Given the description of an element on the screen output the (x, y) to click on. 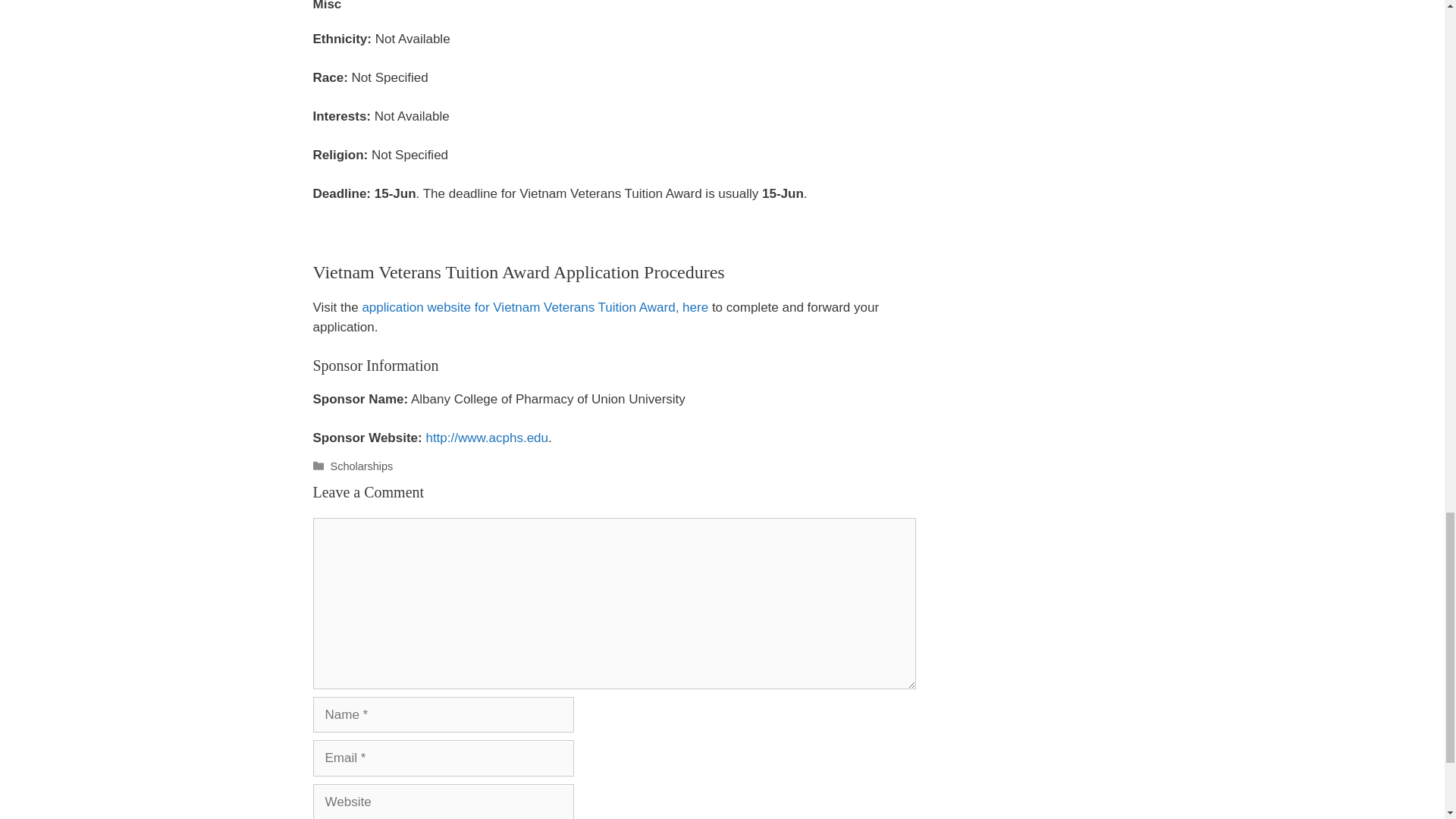
application website for Vietnam Veterans Tuition Award, here (534, 307)
Scholarships (361, 466)
